Given the description of an element on the screen output the (x, y) to click on. 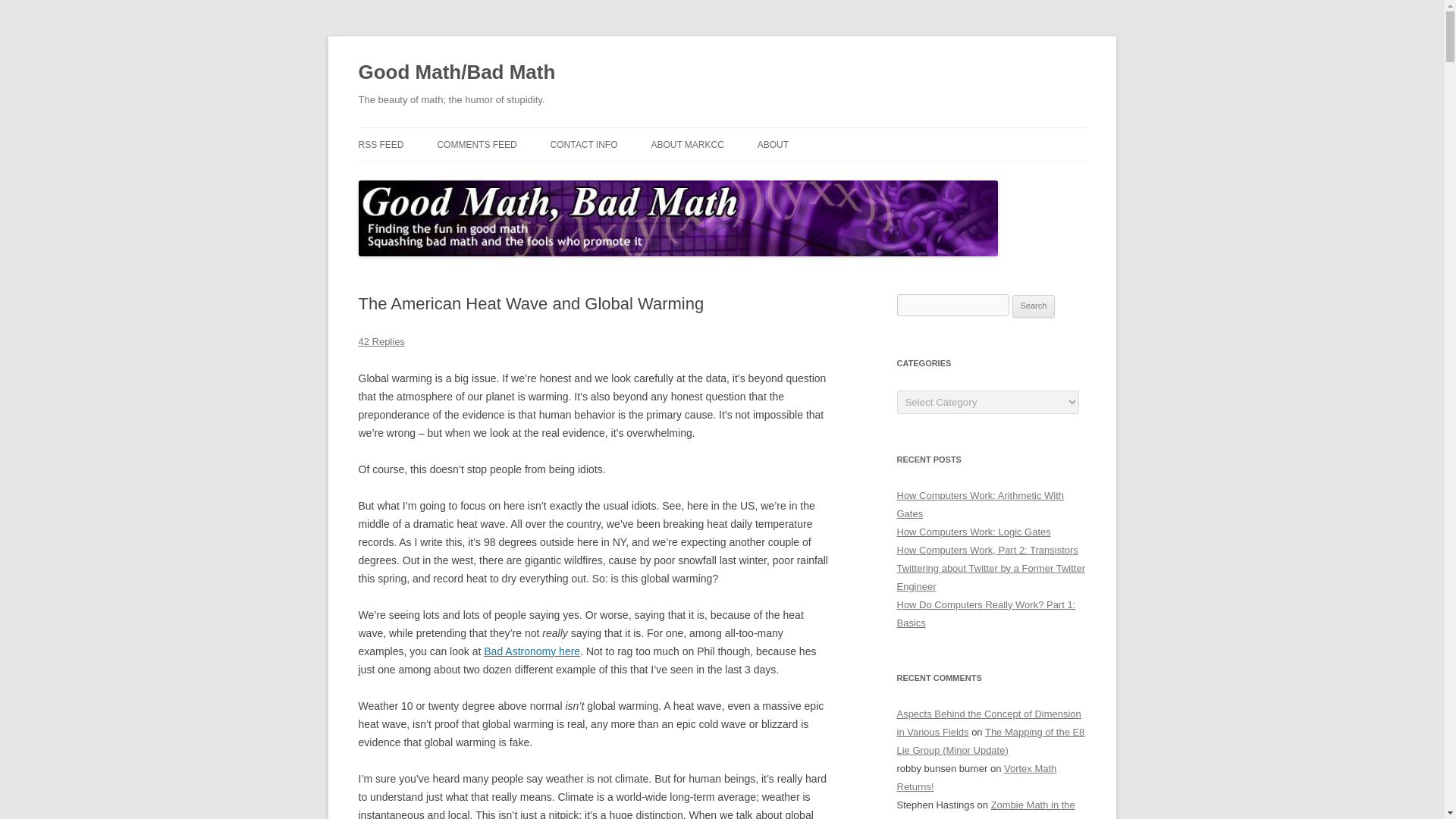
Search (1033, 305)
CONTACT INFO (583, 144)
42 Replies (381, 341)
RSS FEED (380, 144)
COMMENTS FEED (476, 144)
ABOUT MARKCC (686, 144)
Bad Astronomy here (531, 651)
ABOUT (773, 144)
